Given the description of an element on the screen output the (x, y) to click on. 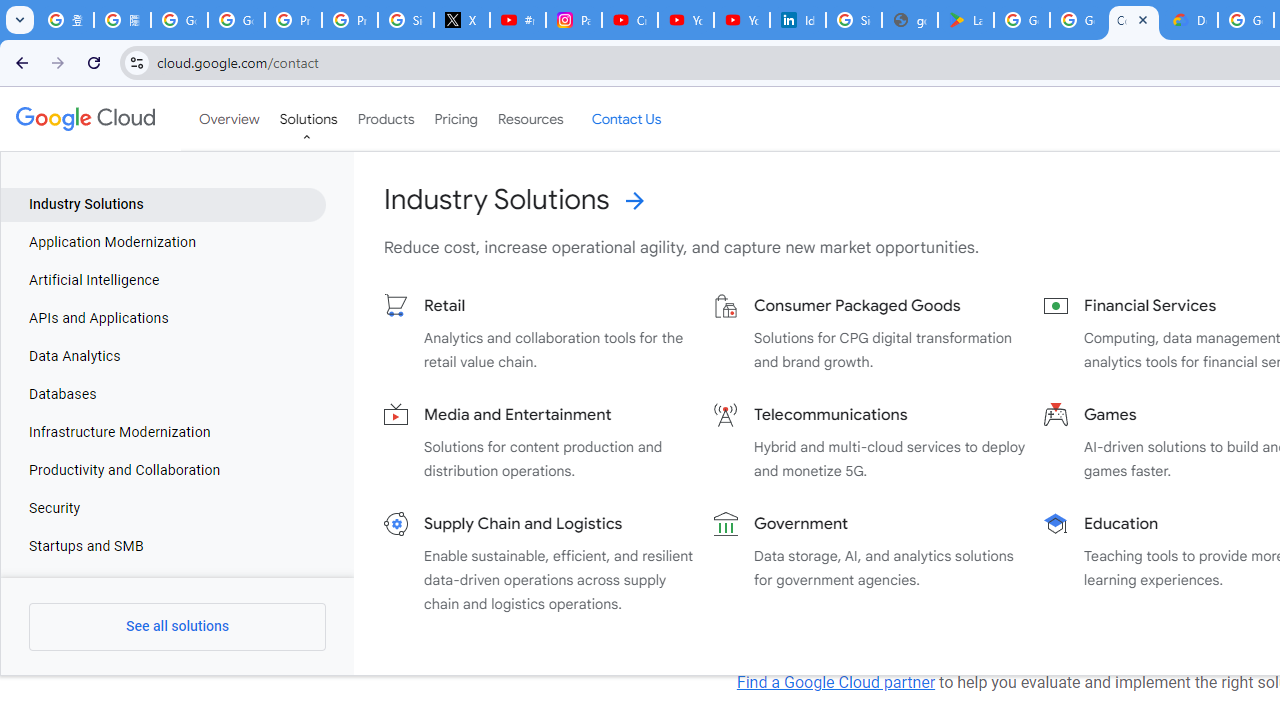
Industry Solutions (163, 204)
APIs and Applications (163, 318)
Last Shelter: Survival - Apps on Google Play (966, 20)
Products (385, 119)
Infrastructure Modernization (163, 433)
Resources (530, 119)
